Given the description of an element on the screen output the (x, y) to click on. 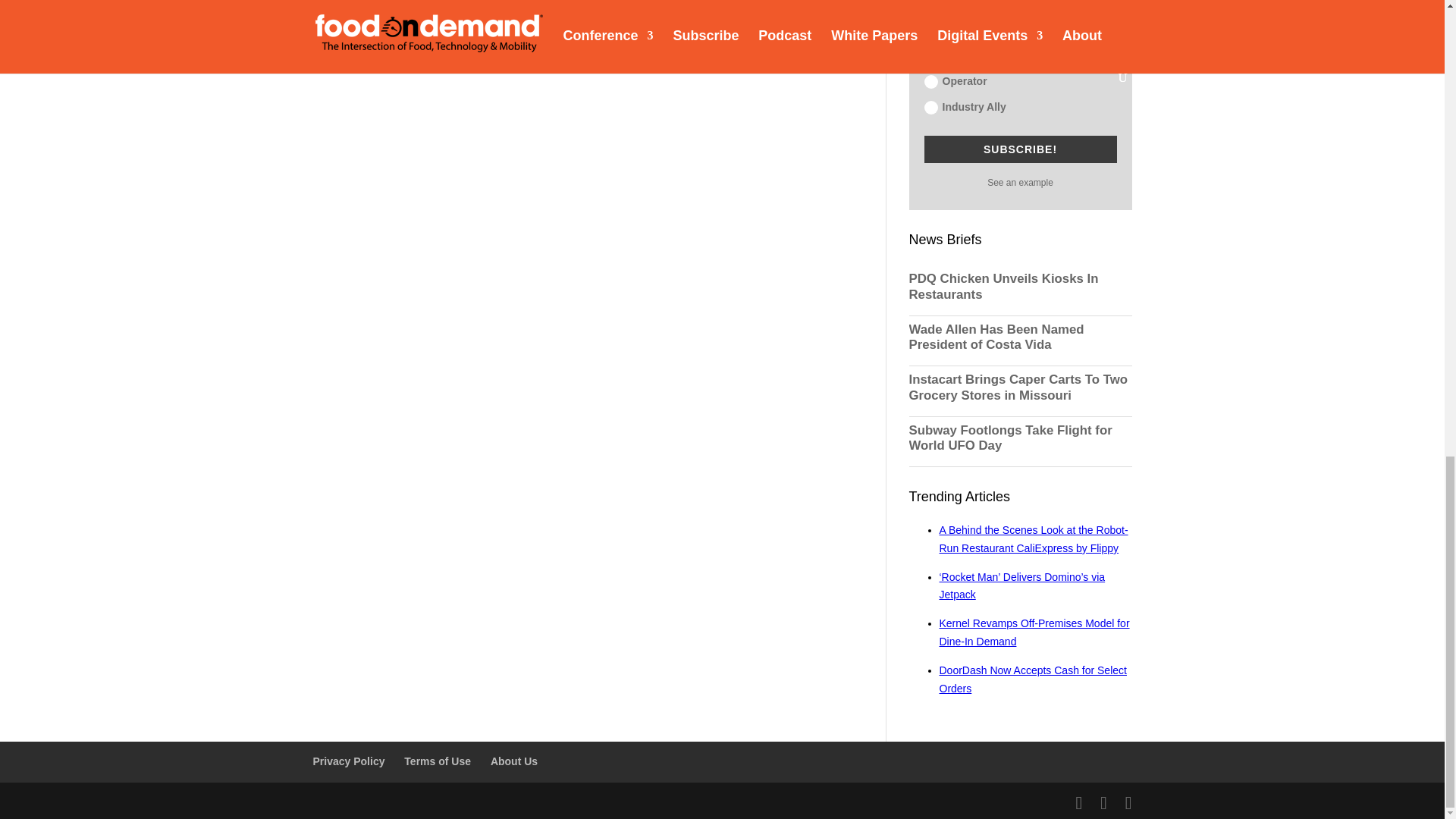
Subway Footlongs Take Flight for World UFO Day (1019, 438)
Privacy Policy (348, 761)
See an example (1019, 182)
About Us (513, 761)
SUBSCRIBE! (1019, 148)
Wade Allen Has Been Named President of Costa Vida (1019, 337)
PDQ Chicken Unveils Kiosks In Restaurants (1019, 286)
Terms of Use (437, 761)
